Given the description of an element on the screen output the (x, y) to click on. 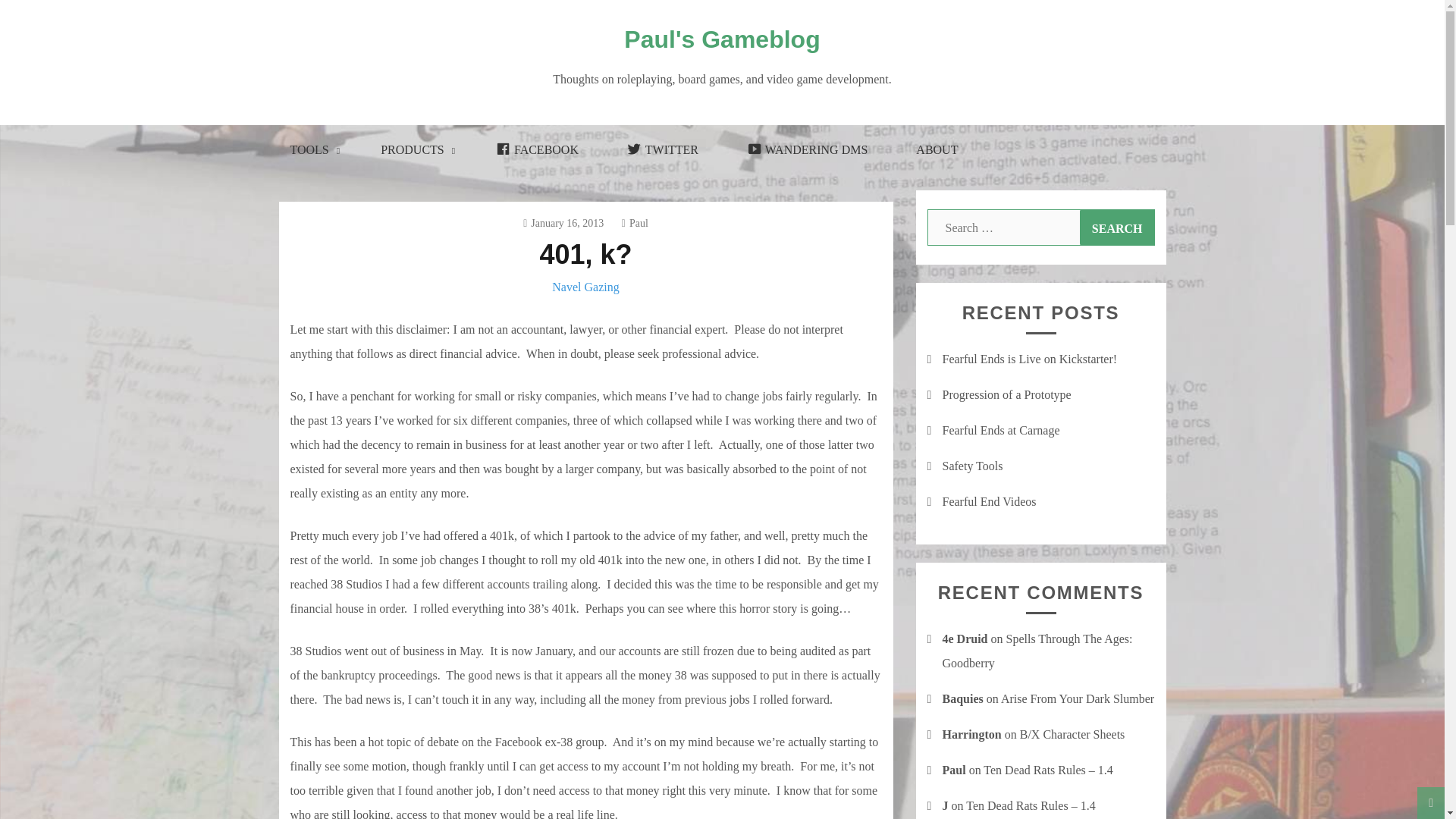
Search (1117, 227)
TWITTER (662, 150)
Navel Gazing (584, 286)
Paul's Gameblog (721, 39)
TOOLS (310, 150)
WANDERING DMS (806, 150)
Fearful Ends is Live on Kickstarter! (1029, 358)
Search (1117, 227)
PRODUCTS (414, 150)
FACEBOOK (537, 150)
